Given the description of an element on the screen output the (x, y) to click on. 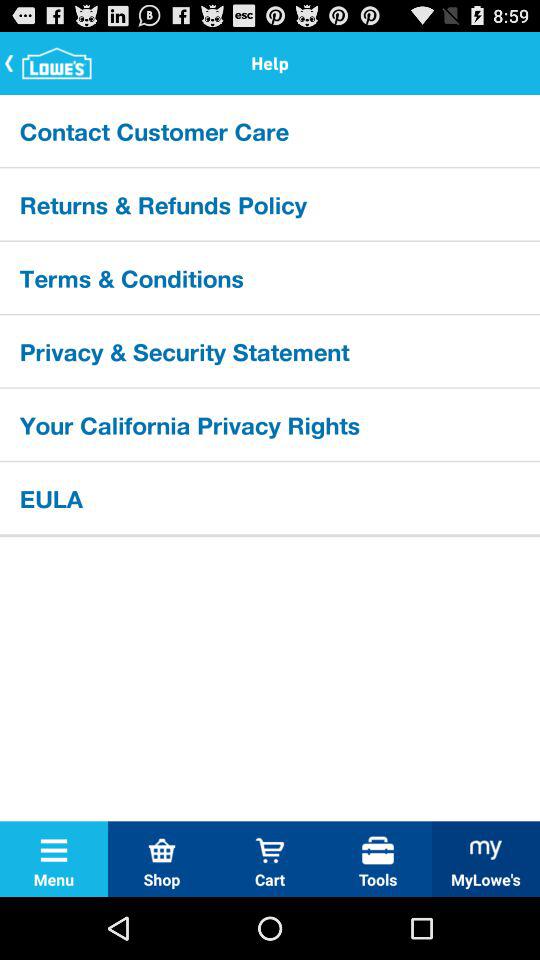
swipe to eula icon (270, 497)
